Given the description of an element on the screen output the (x, y) to click on. 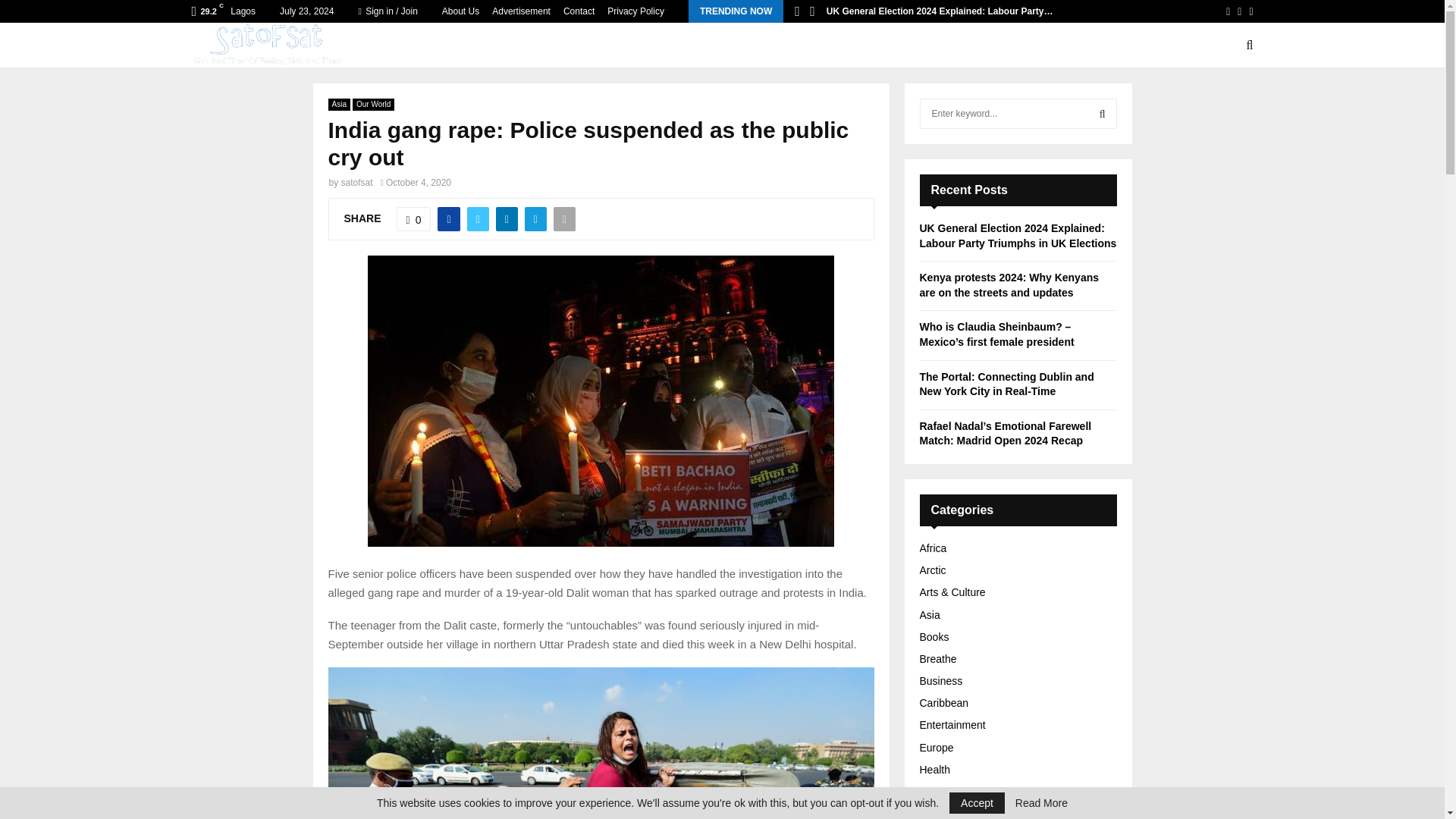
Advertisement (521, 11)
Privacy Policy (635, 11)
Sign up new account (722, 527)
Contact (578, 11)
Login to your account (722, 293)
About Us (460, 11)
